Given the description of an element on the screen output the (x, y) to click on. 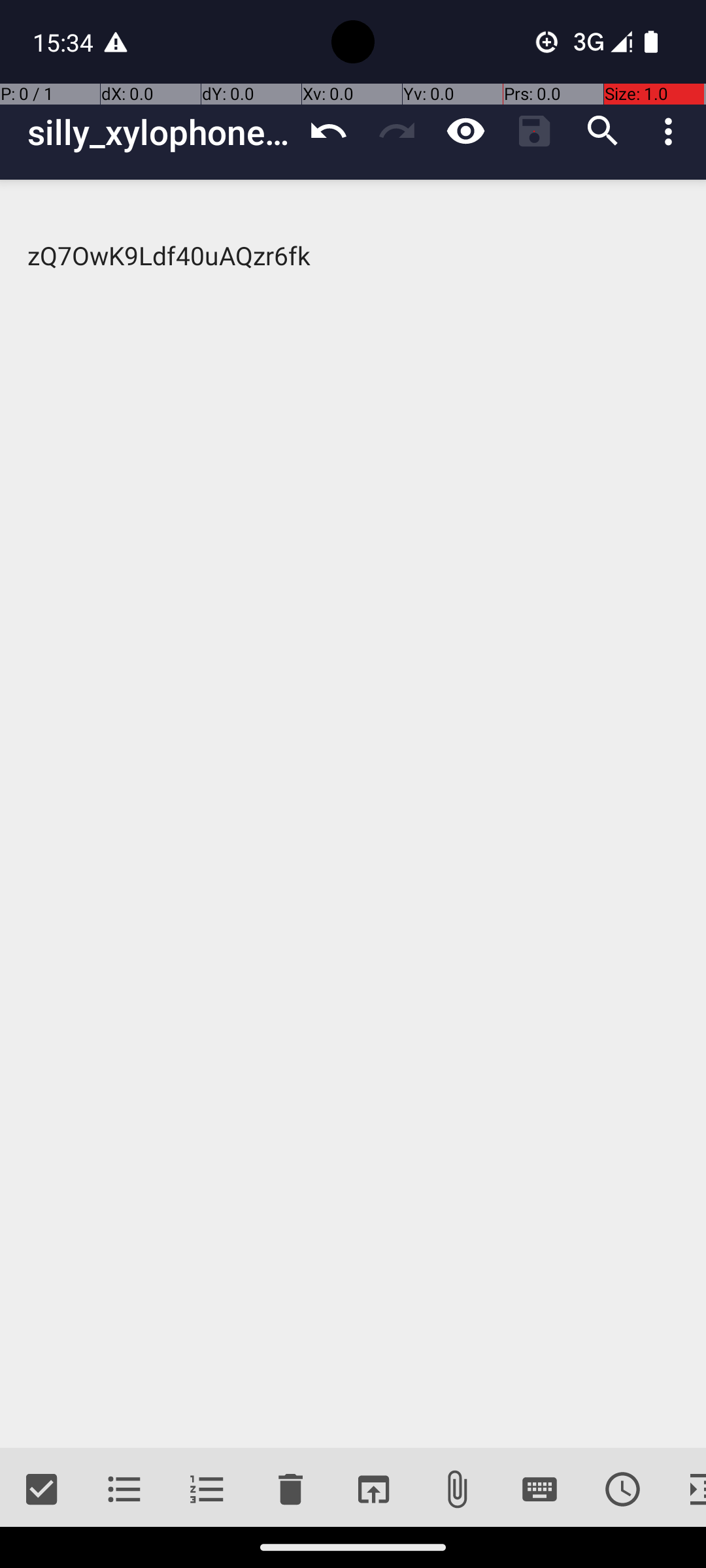
silly_xylophone_WGSm Element type: android.widget.TextView (160, 131)

zQ7OwK9Ldf40uAQzr6fk Element type: android.widget.EditText (353, 813)
Ordered list Element type: android.widget.ImageView (207, 1488)
Indent Element type: android.widget.ImageView (685, 1488)
